Given the description of an element on the screen output the (x, y) to click on. 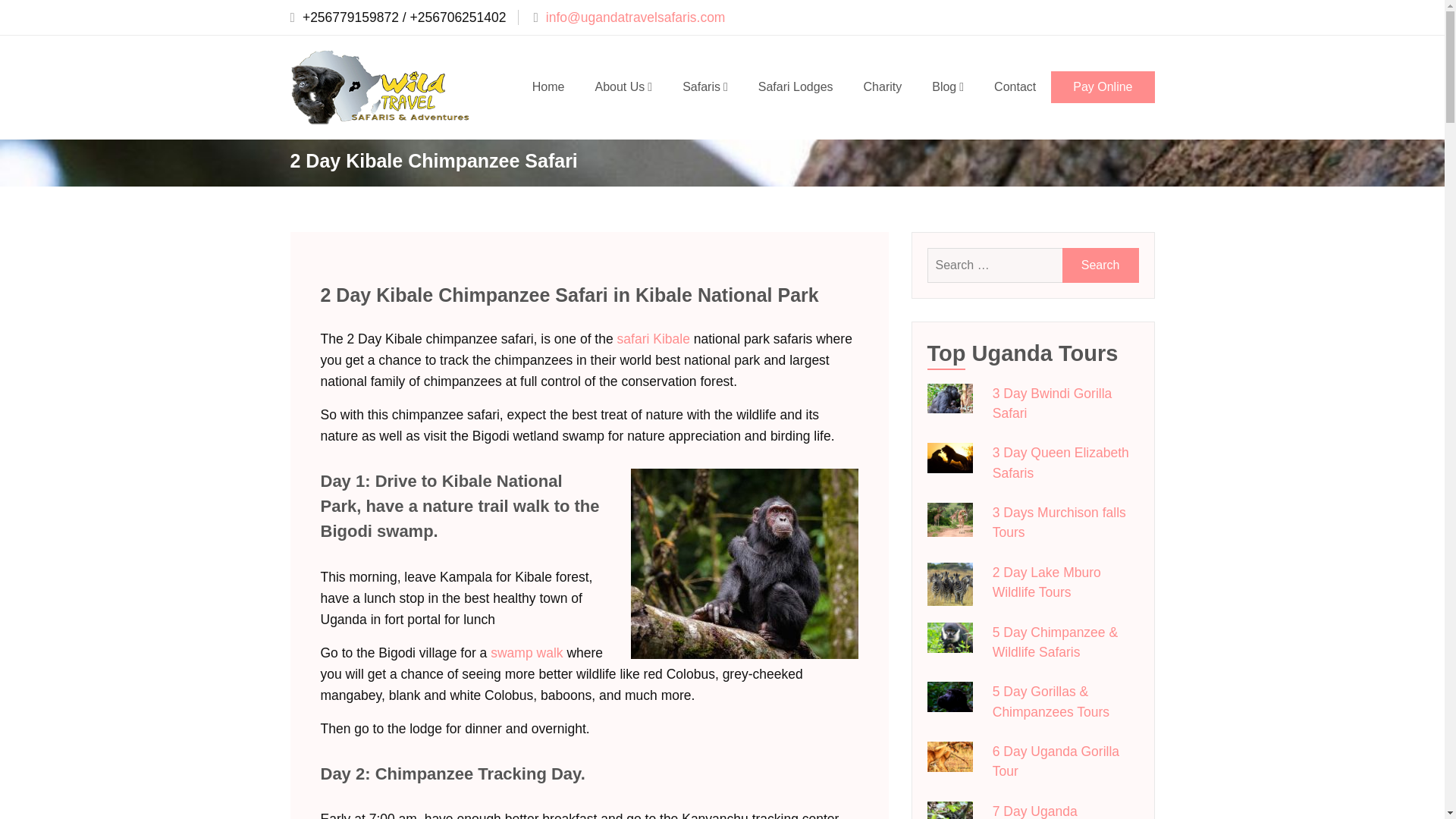
Home (547, 86)
Blog (947, 86)
safari Kibale (653, 338)
Safaris (704, 86)
Search (1100, 265)
Search (1100, 265)
Contact (1014, 86)
About Us (622, 86)
Charity (882, 86)
Pay Online (1102, 87)
